Given the description of an element on the screen output the (x, y) to click on. 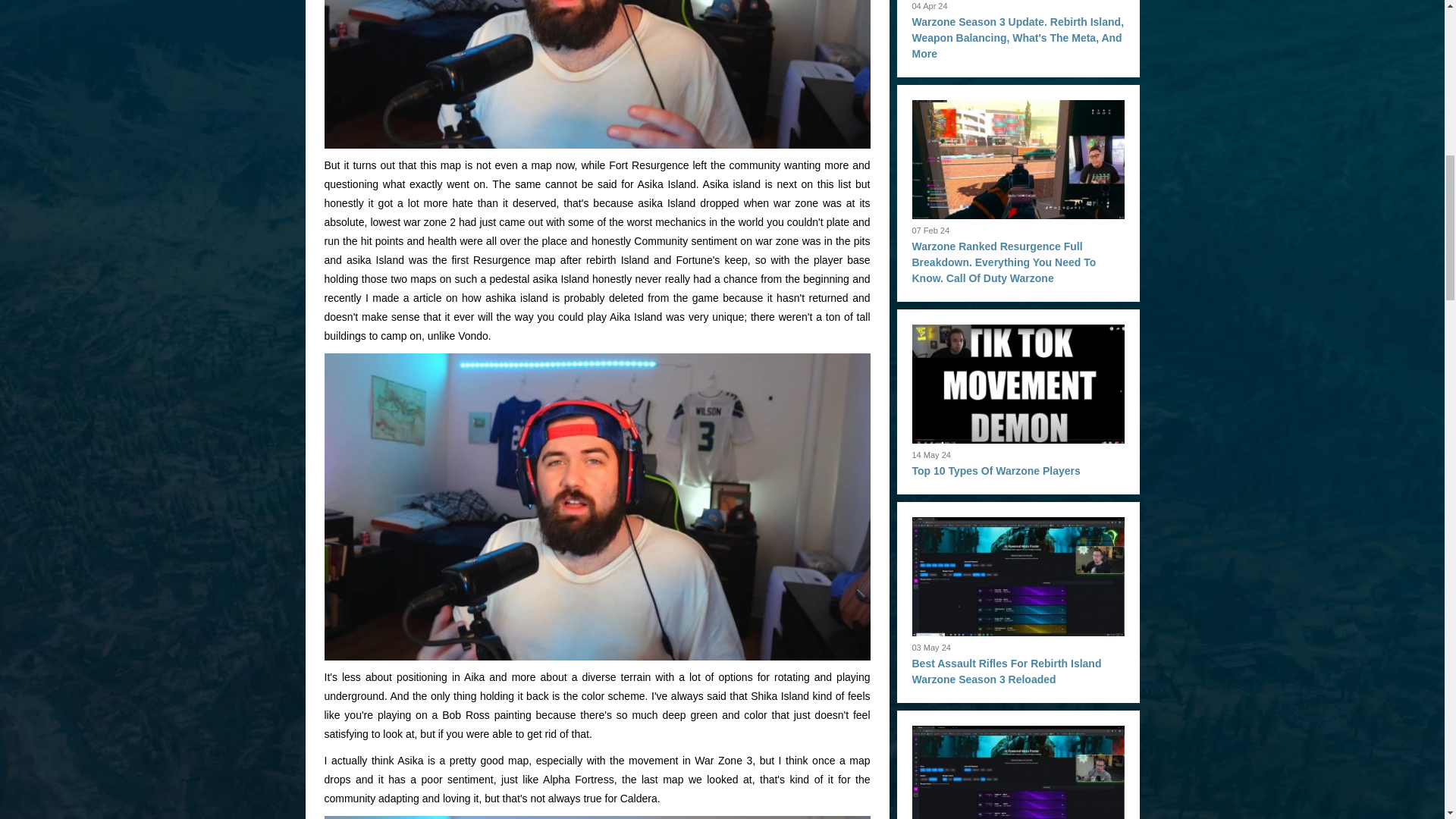
cod (597, 74)
